Given the description of an element on the screen output the (x, y) to click on. 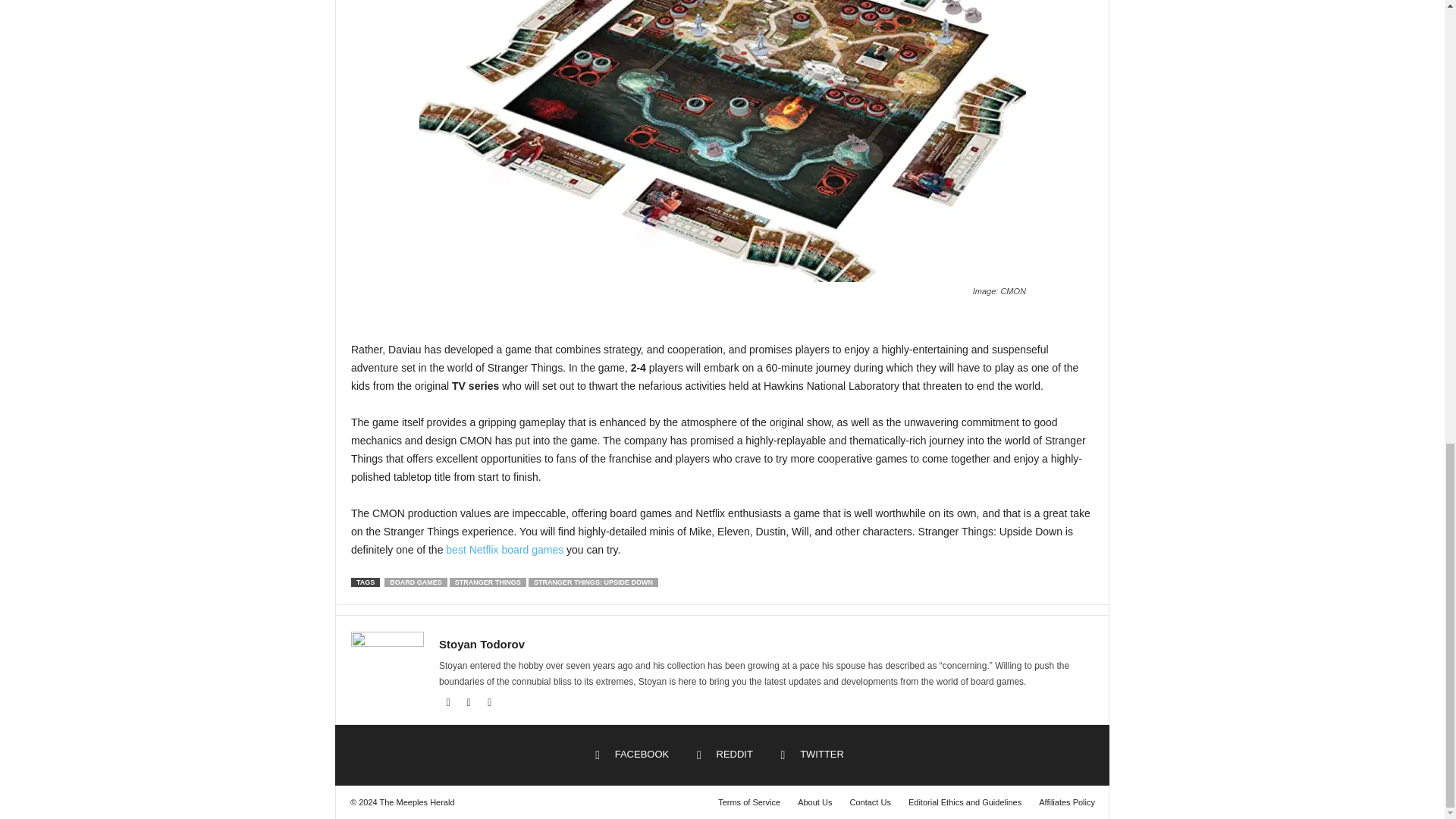
Linkedin (470, 702)
BOARD GAMES (415, 582)
best Netflix board games (504, 549)
Facebook (449, 702)
Stoyan Todorov (481, 644)
STRANGER THINGS: UPSIDE DOWN (593, 582)
STRANGER THINGS (487, 582)
